Given the description of an element on the screen output the (x, y) to click on. 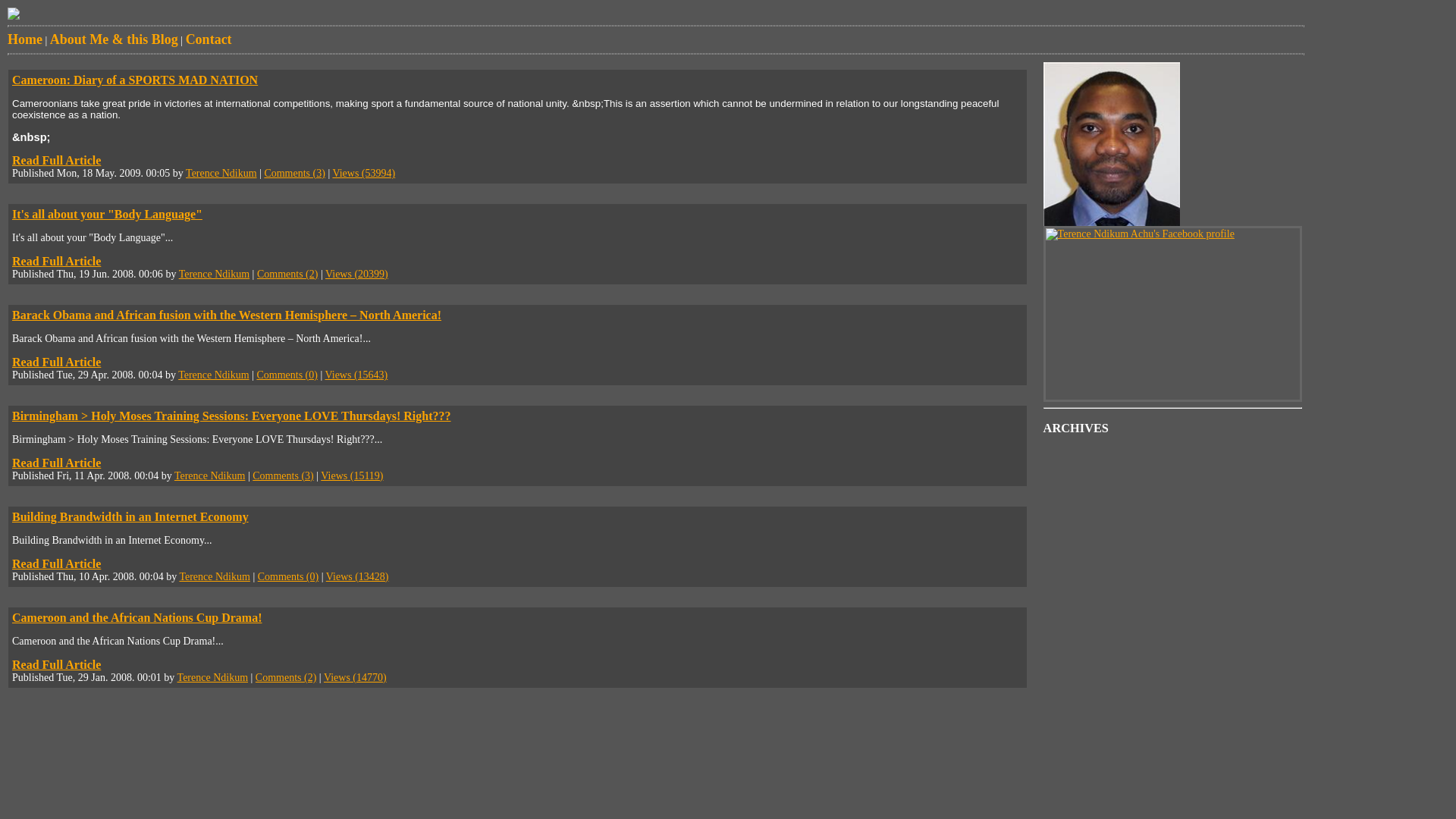
Comments (0) Element type: text (288, 576)
Read Full Article Element type: text (56, 260)
Terence Ndikum Achu's Facebook profile Element type: hover (1139, 233)
Terence Ndikum Element type: text (213, 273)
Views (20399) Element type: text (356, 273)
Comments (3) Element type: text (294, 172)
About Me & this Blog Element type: text (114, 39)
It's all about your "Body Language" Element type: text (107, 213)
Views (13428) Element type: text (357, 576)
Comments (3) Element type: text (282, 475)
Terence Ndikum Element type: text (212, 677)
Read Full Article Element type: text (56, 361)
Building Brandwidth in an Internet Economy Element type: text (130, 516)
Terence Ndikum Element type: text (220, 172)
Comments (2) Element type: text (287, 273)
Read Full Article Element type: text (56, 664)
Cameroon: Diary of a SPORTS MAD NATION Element type: text (134, 79)
Views (15119) Element type: text (351, 475)
Read Full Article Element type: text (56, 462)
Home Element type: text (24, 39)
Read Full Article Element type: text (56, 563)
Views (53994) Element type: text (363, 172)
Comments (2) Element type: text (285, 677)
Comments (0) Element type: text (286, 374)
Views (14770) Element type: text (354, 677)
Contact Element type: text (208, 39)
Views (15643) Element type: text (355, 374)
Cameroon and the African Nations Cup Drama! Element type: text (136, 617)
Terence Ndikum Element type: text (209, 475)
Read Full Article Element type: text (56, 159)
Terence Ndikum Element type: text (213, 374)
Terence Ndikum Element type: text (213, 576)
